Given the description of an element on the screen output the (x, y) to click on. 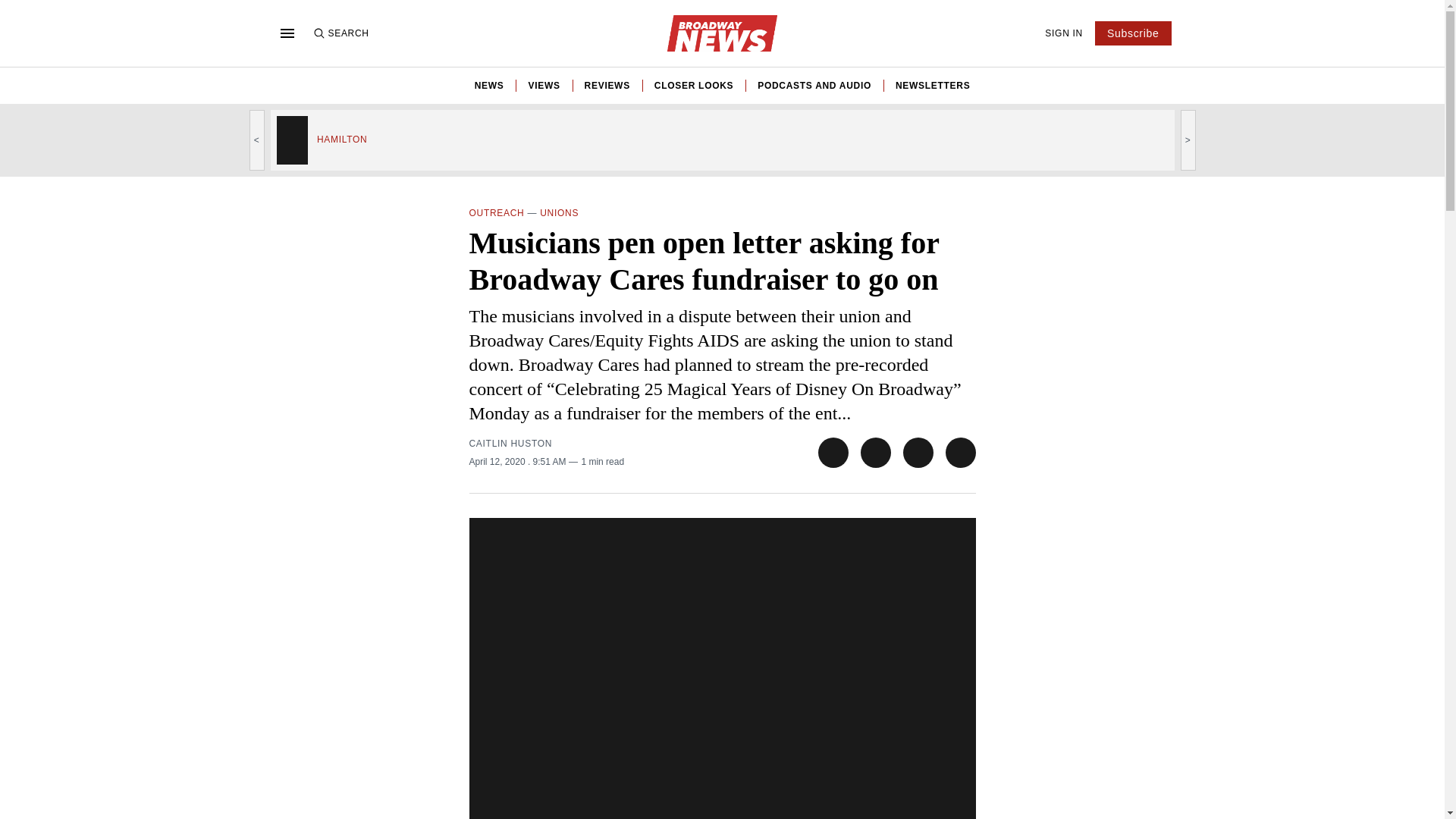
NEWS (488, 85)
Subscribe (1133, 33)
PODCASTS AND AUDIO (813, 85)
SEARCH (340, 33)
CLOSER LOOKS (693, 85)
NEWSLETTERS (932, 85)
SIGN IN (1064, 33)
VIEWS (543, 85)
REVIEWS (607, 85)
